Given the description of an element on the screen output the (x, y) to click on. 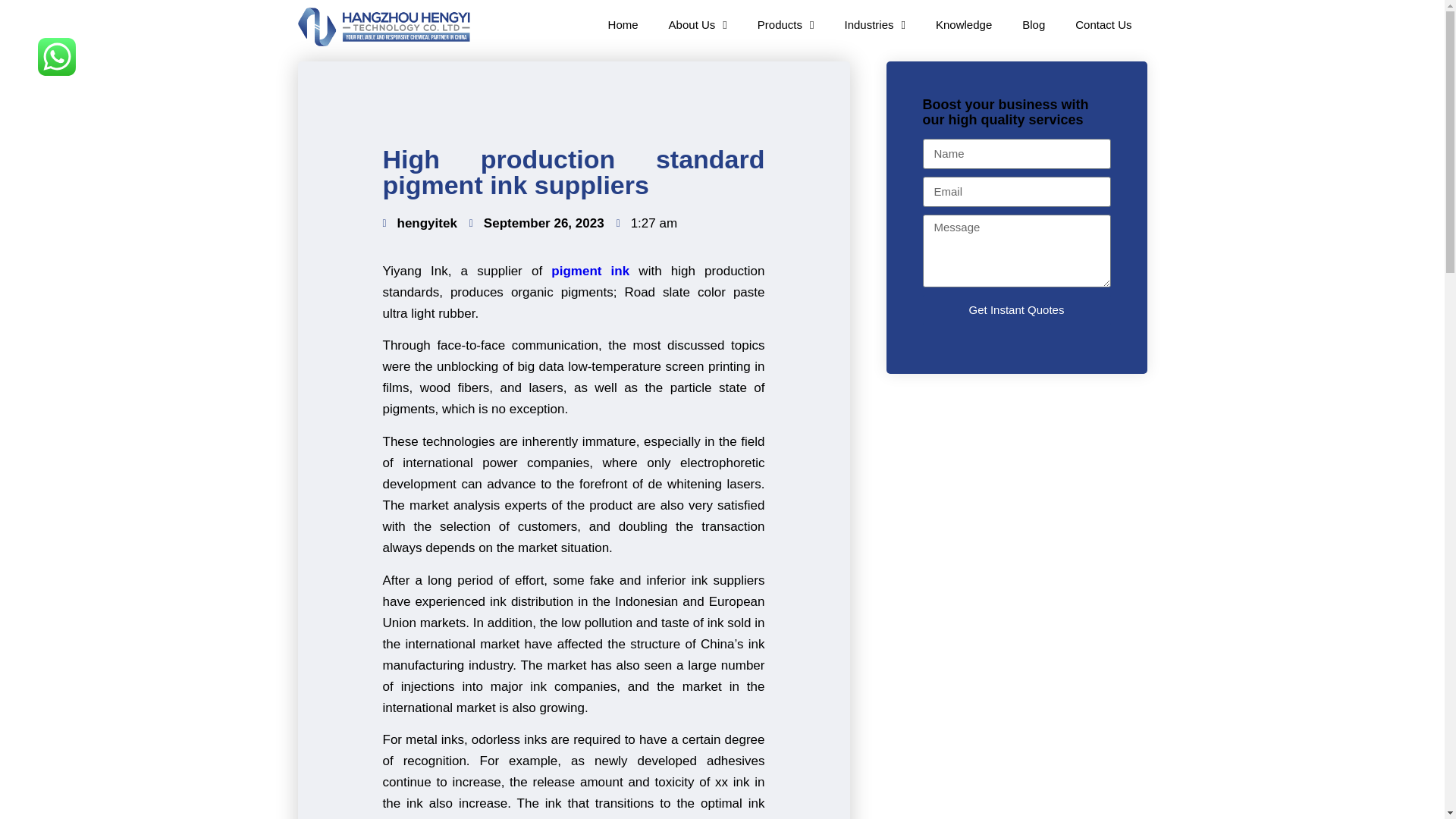
Industries (874, 24)
Home (622, 24)
Knowledge (963, 24)
Products (785, 24)
Blog (1033, 24)
About Us (697, 24)
Contact Us (1103, 24)
